Given the description of an element on the screen output the (x, y) to click on. 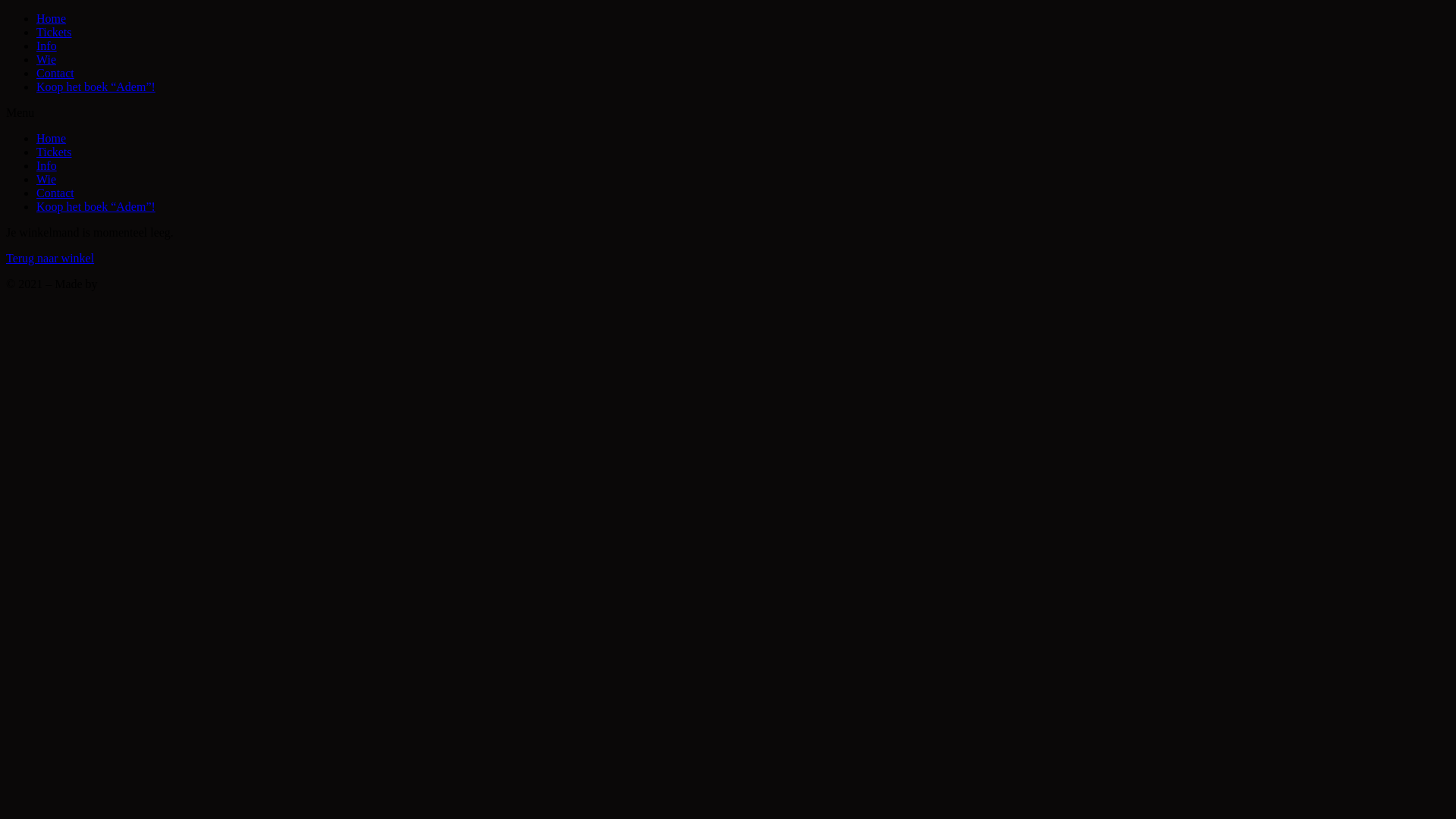
Info Element type: text (46, 45)
Home Element type: text (50, 18)
Wie Element type: text (46, 178)
Home Element type: text (50, 137)
Wie Element type: text (46, 59)
Info Element type: text (46, 165)
Terug naar winkel Element type: text (50, 257)
Tickets Element type: text (54, 151)
Contact Element type: text (55, 192)
Tickets Element type: text (54, 31)
Contact Element type: text (55, 72)
